Given the description of an element on the screen output the (x, y) to click on. 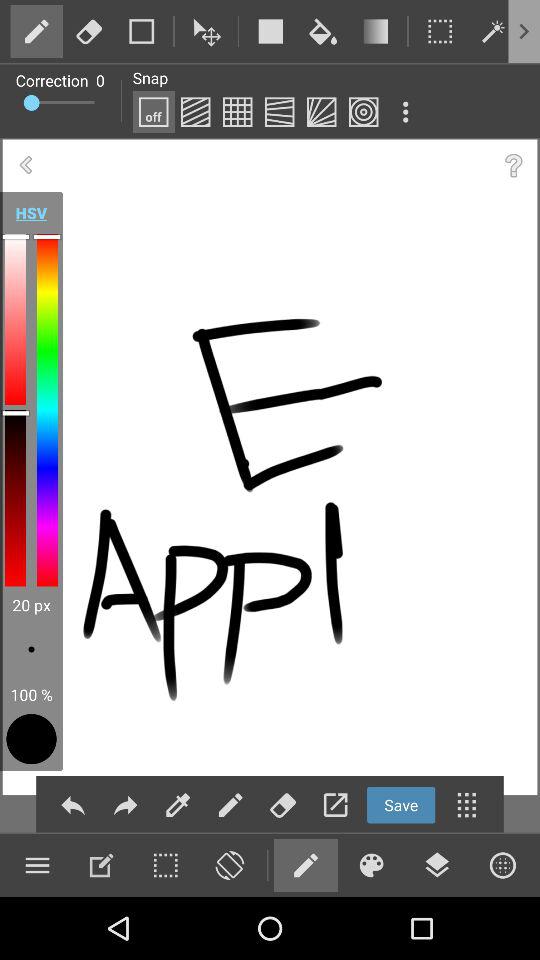
more options (529, 31)
